Given the description of an element on the screen output the (x, y) to click on. 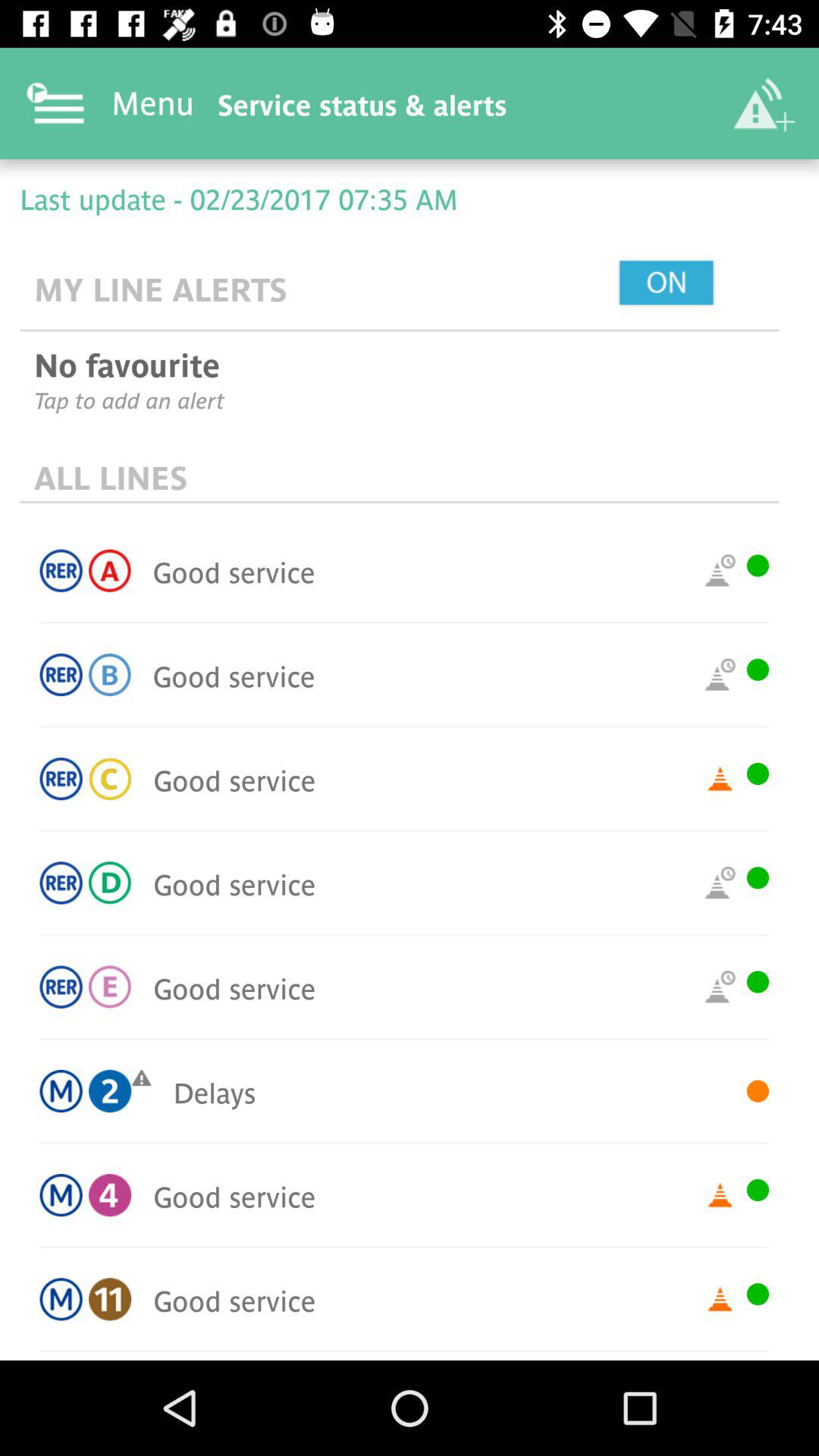
launch item below last update 02 (700, 283)
